Given the description of an element on the screen output the (x, y) to click on. 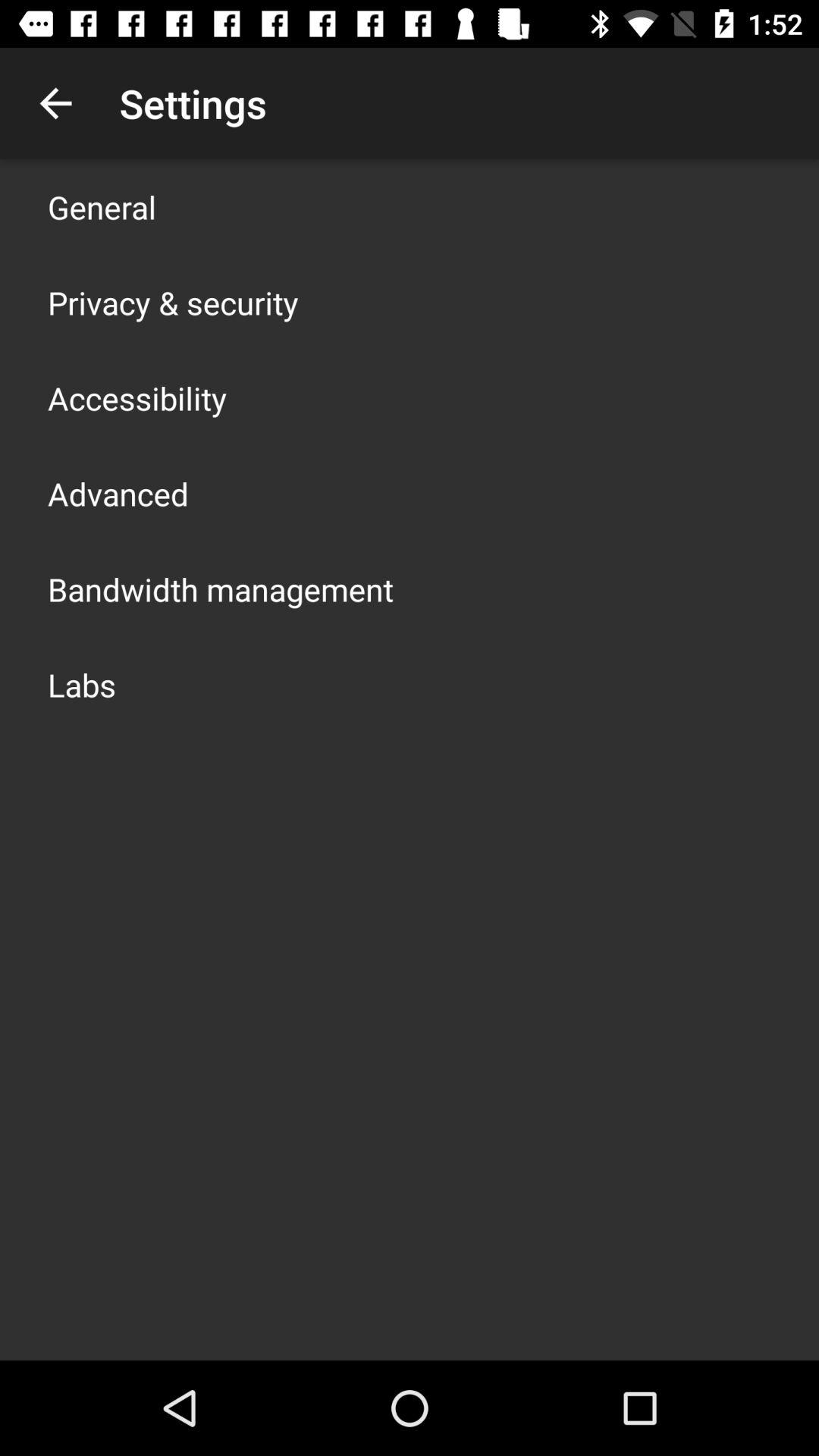
scroll to privacy & security app (172, 302)
